Given the description of an element on the screen output the (x, y) to click on. 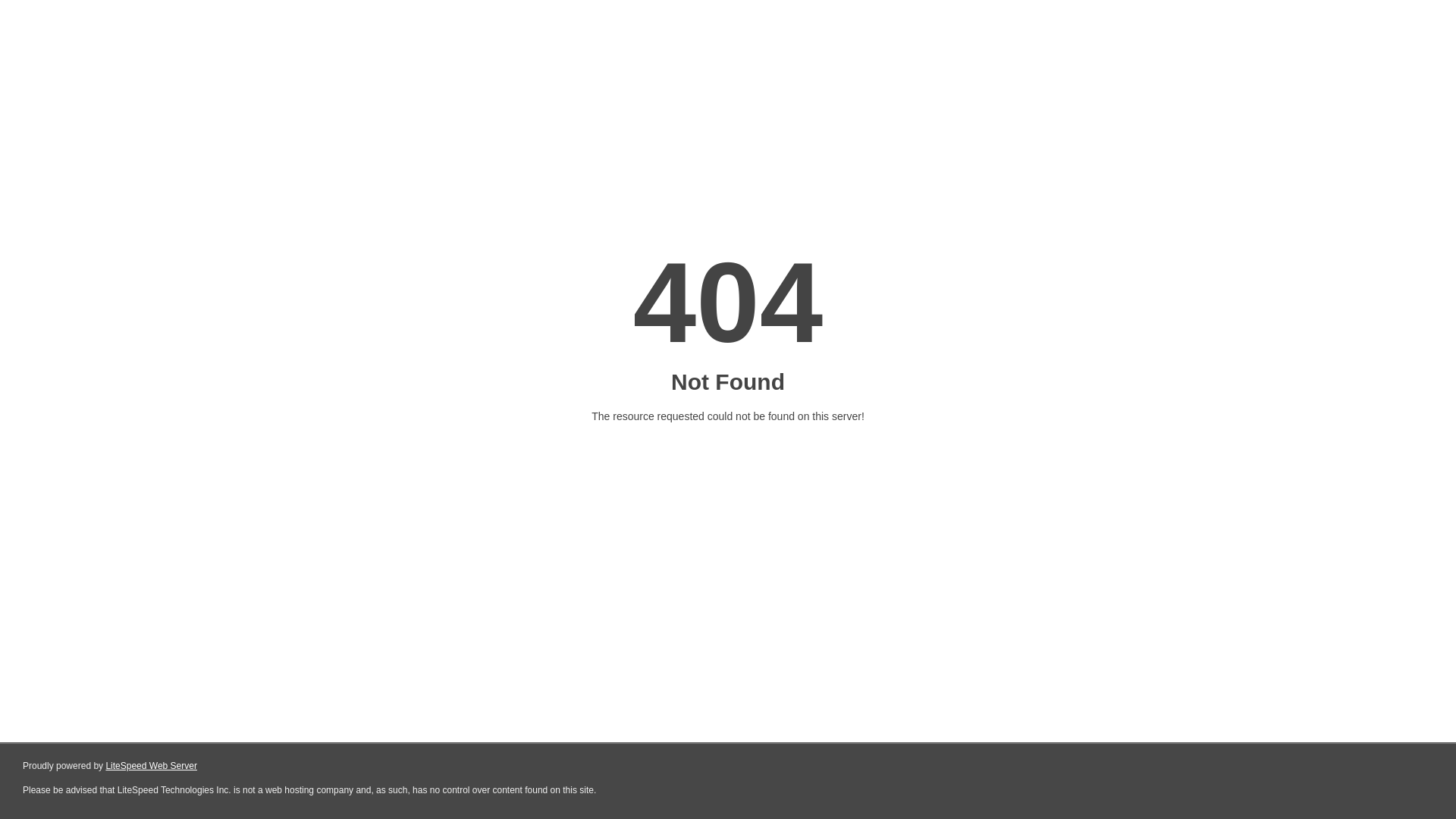
LiteSpeed Web Server Element type: text (151, 765)
